Given the description of an element on the screen output the (x, y) to click on. 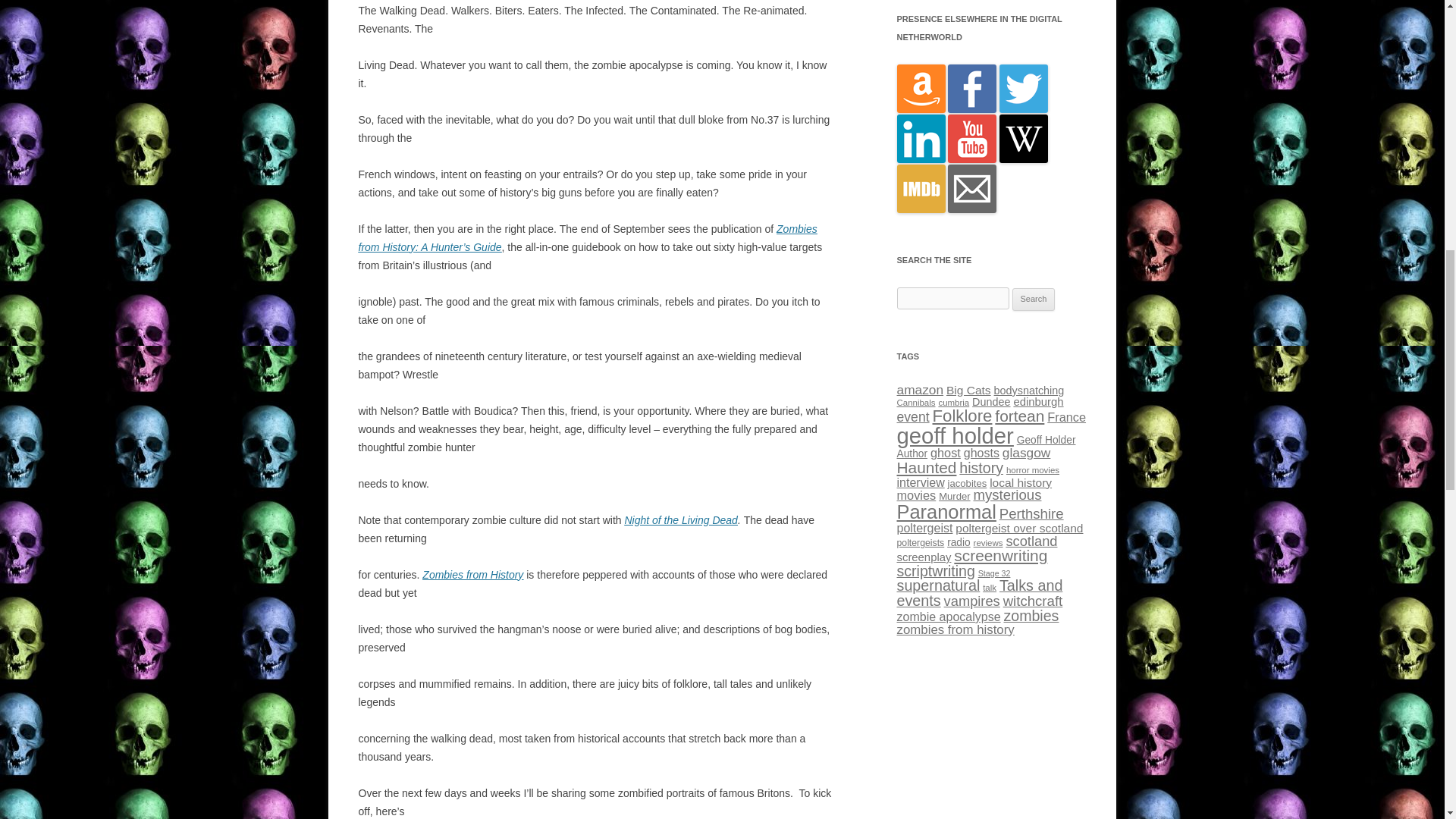
Linkedin (920, 159)
Facebook (971, 109)
Zombies from History (472, 574)
Twitter (1023, 109)
wikipedia (1023, 159)
amazon (920, 109)
IMDB (920, 209)
Search (1033, 299)
Youtube (971, 159)
Email (971, 209)
